Given the description of an element on the screen output the (x, y) to click on. 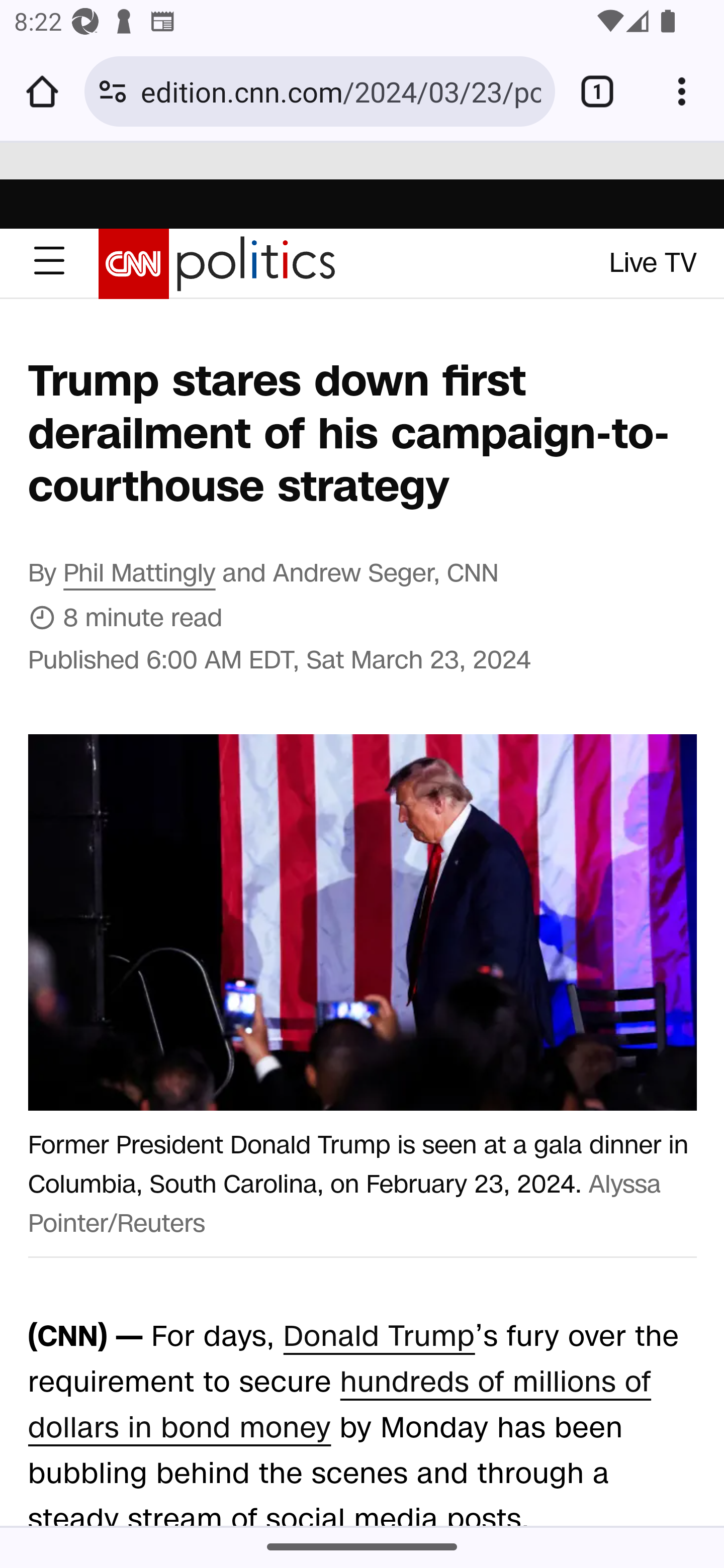
Open the home page (42, 91)
Connection is secure (112, 91)
Switch or close tabs (597, 91)
Customize and control Google Chrome (681, 91)
CNN logo (134, 264)
politics (256, 264)
Open Menu Icon (49, 264)
Live TV (653, 263)
Phil Mattingly (139, 573)
Donald Trump (377, 1336)
hundreds of millions of dollars in bond money (340, 1404)
